Given the description of an element on the screen output the (x, y) to click on. 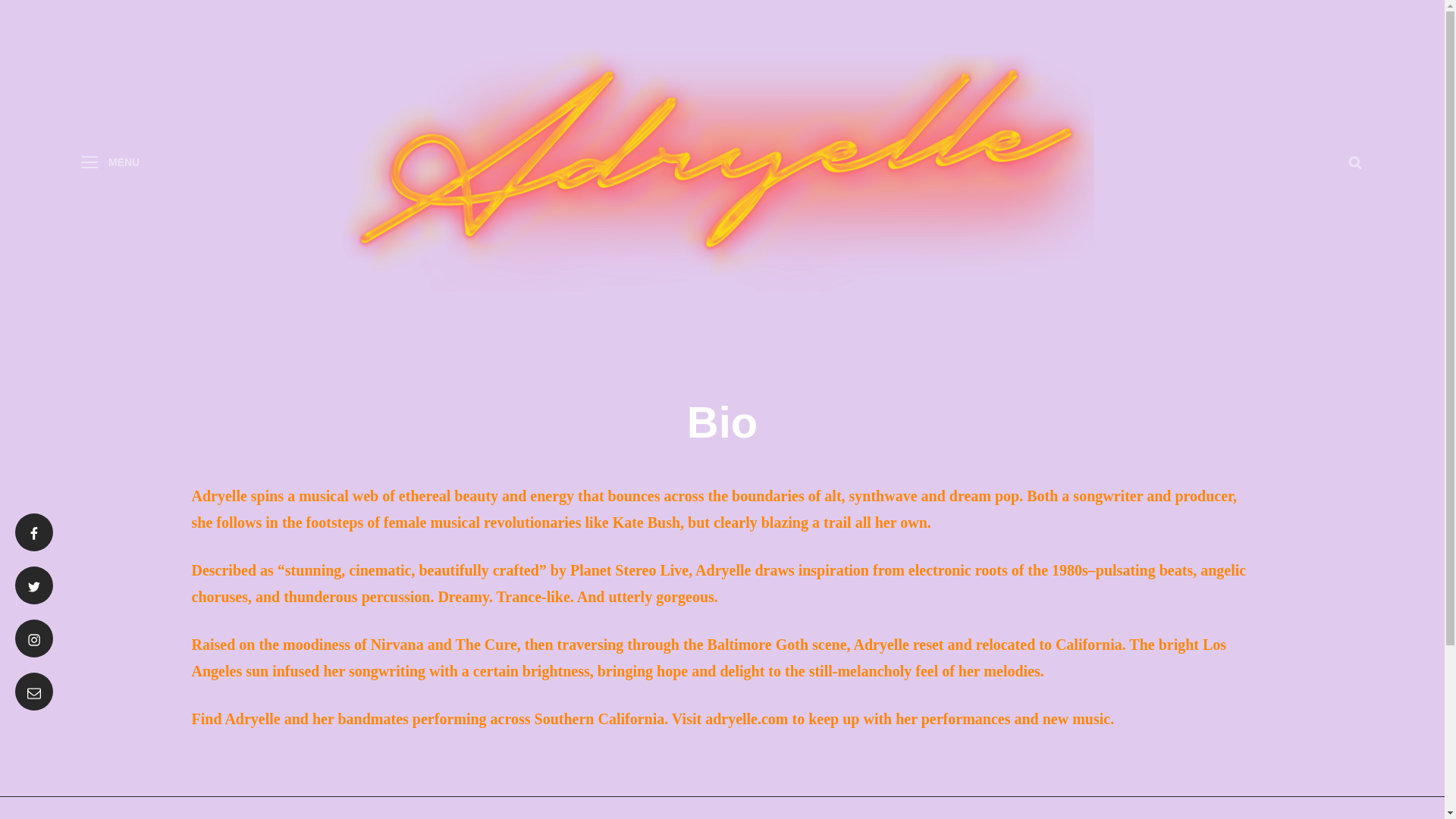
Facebook (33, 532)
Email (33, 691)
Instagram (33, 638)
Search (1354, 162)
MENU (109, 162)
Twitter (33, 585)
